Given the description of an element on the screen output the (x, y) to click on. 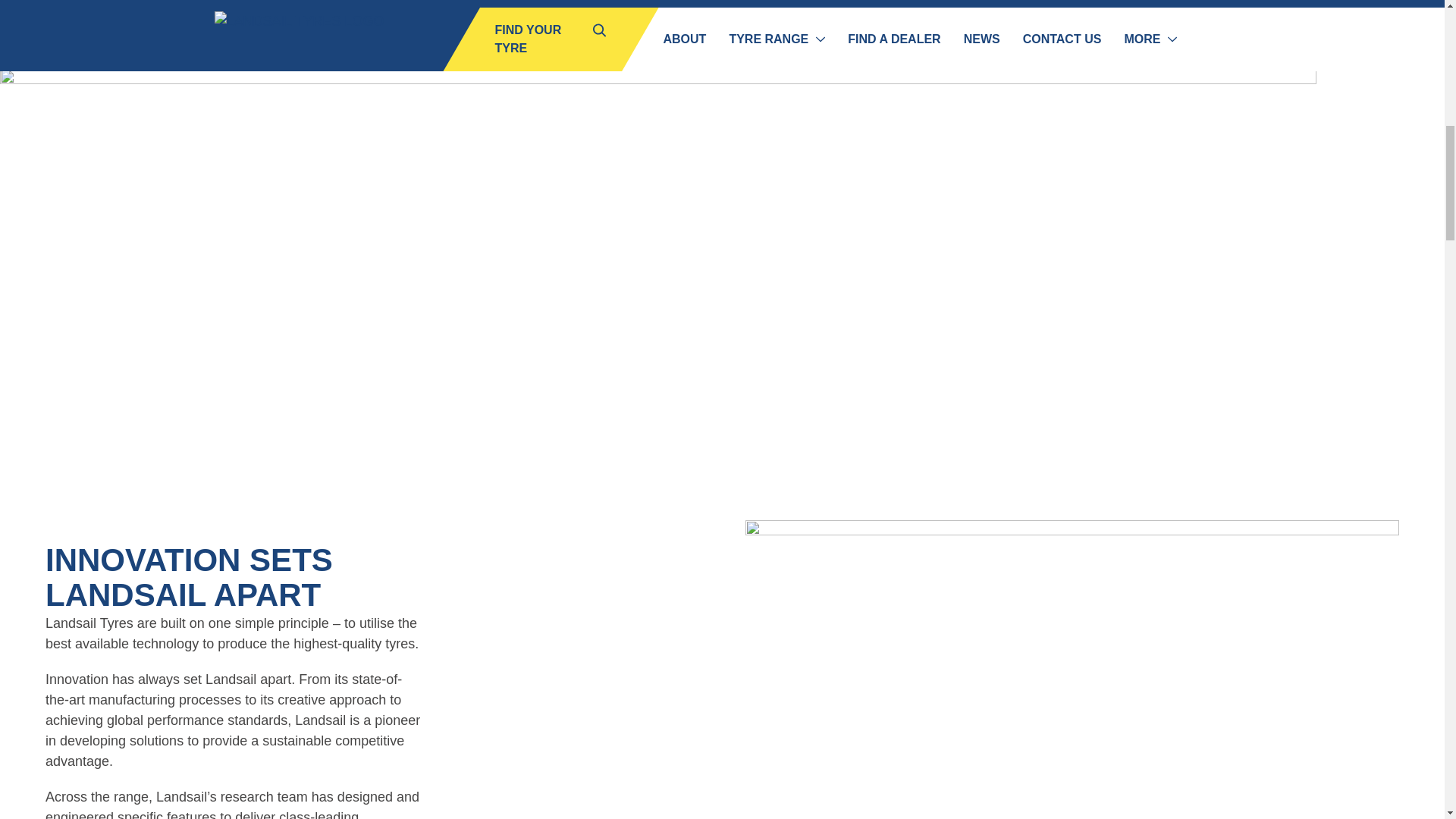
about-hero-text (388, 34)
